Given the description of an element on the screen output the (x, y) to click on. 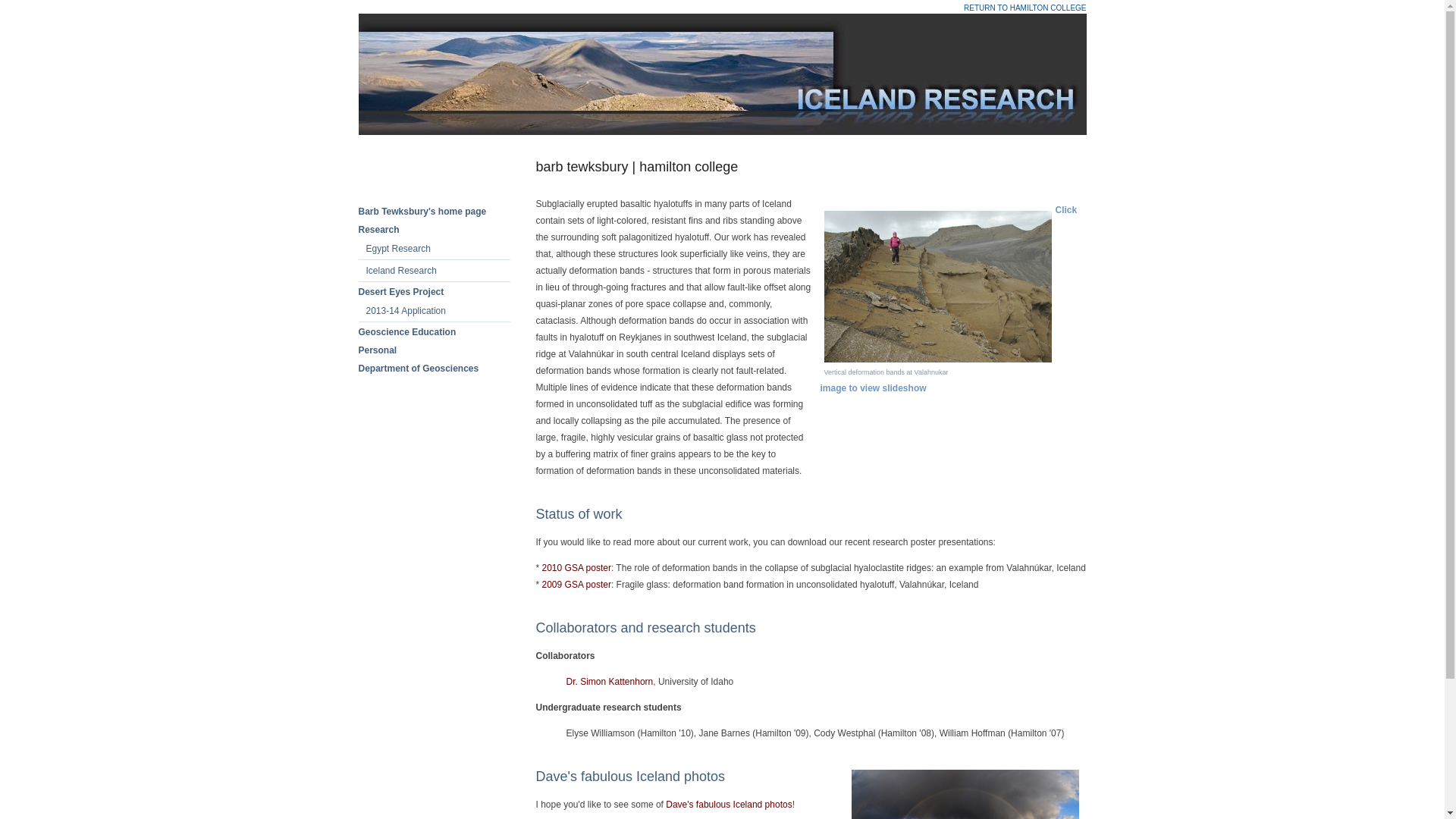
Vertical deformation bands at Valahnukar  (937, 358)
Research (378, 229)
Iceland Research (400, 270)
Desert Eyes Project (401, 291)
2009 GSA poster (576, 584)
Dave's fabulous Iceland photos (728, 804)
Department of Geosciences (418, 368)
Personal (377, 349)
Dr. Simon Kattenhorn (609, 681)
2013-14 Application (405, 310)
Geoscience Education (406, 331)
2010 GSA poster (576, 567)
Barb Tewksbury's home page (422, 211)
Egypt Research (397, 248)
Banner (722, 74)
